Given the description of an element on the screen output the (x, y) to click on. 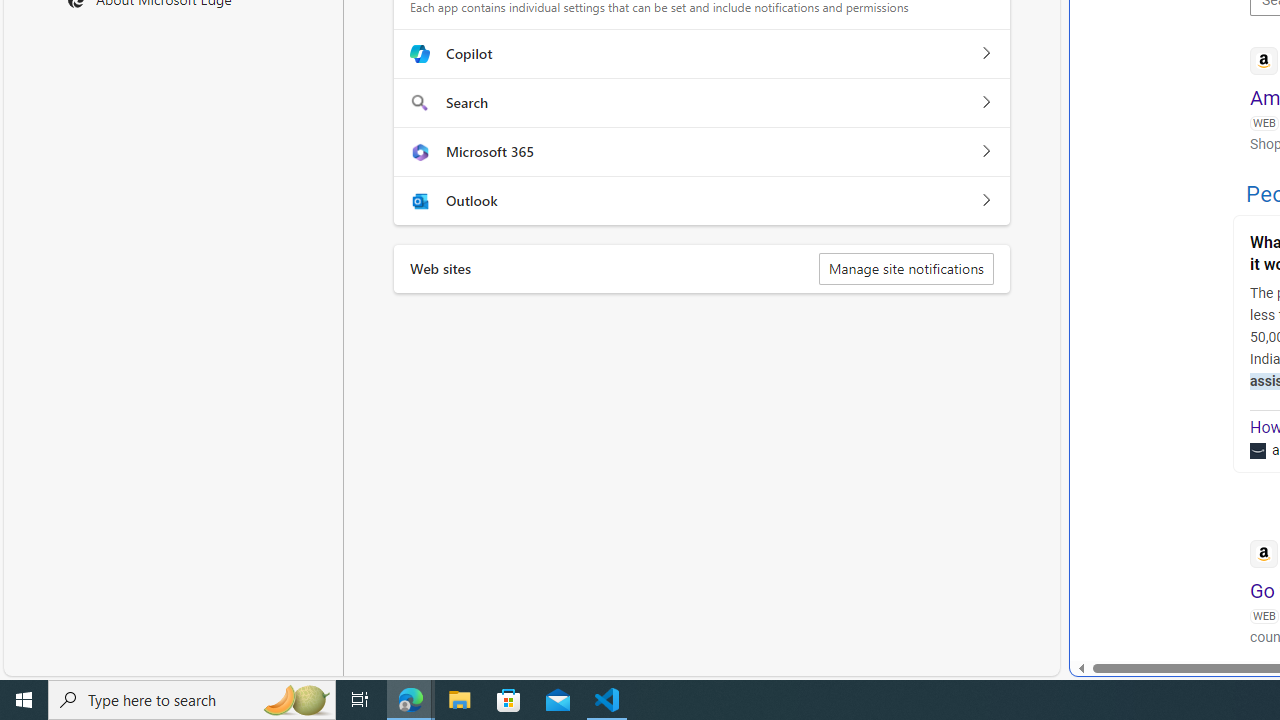
Manage site notifications (905, 268)
Copilot (985, 54)
Microsoft Edge - 2 running windows (411, 699)
